Given the description of an element on the screen output the (x, y) to click on. 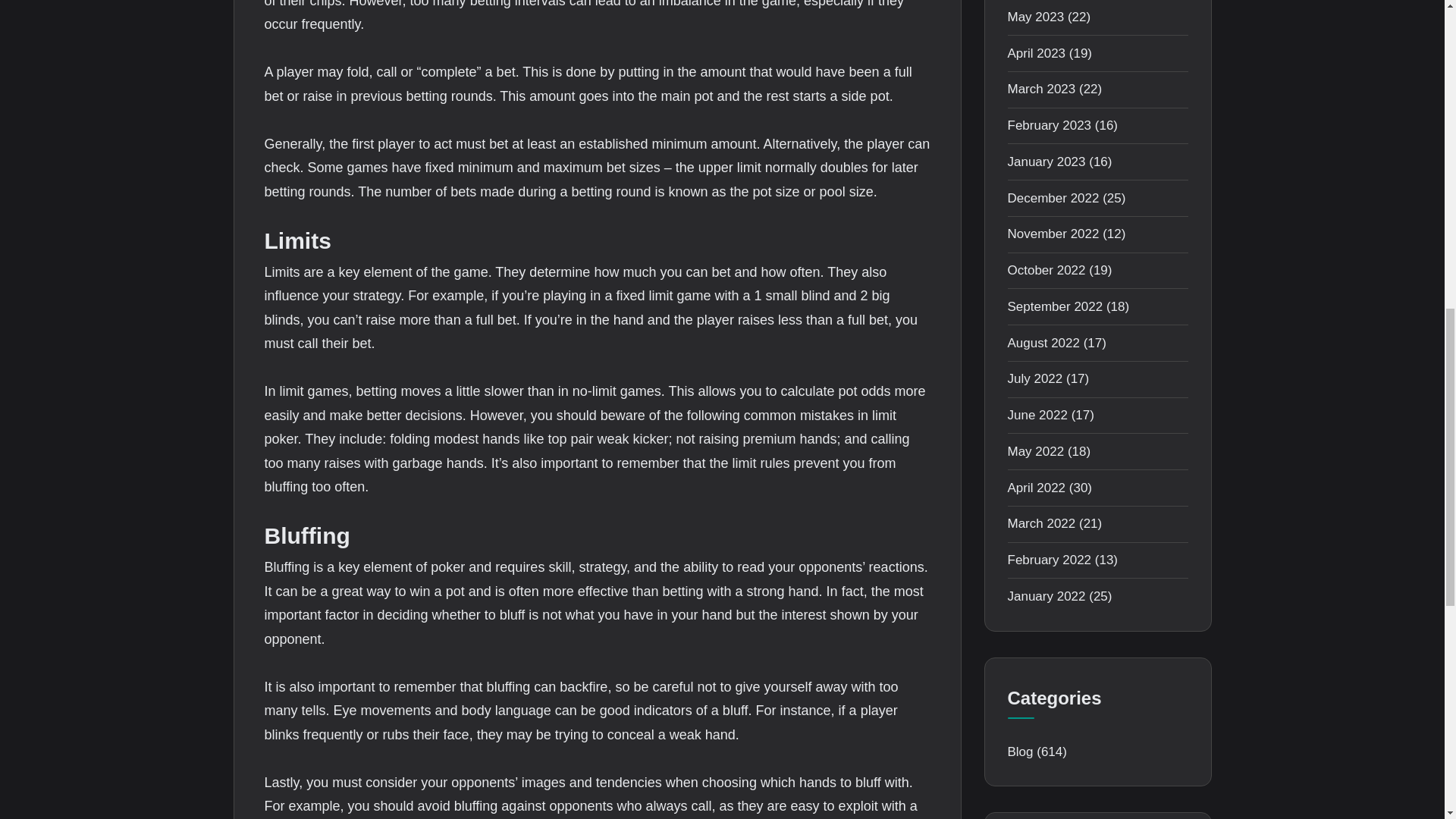
September 2022 (1054, 306)
May 2023 (1035, 16)
October 2022 (1045, 269)
March 2023 (1041, 88)
December 2022 (1053, 197)
April 2023 (1036, 52)
August 2022 (1042, 342)
November 2022 (1053, 233)
January 2023 (1045, 161)
February 2023 (1048, 124)
